Given the description of an element on the screen output the (x, y) to click on. 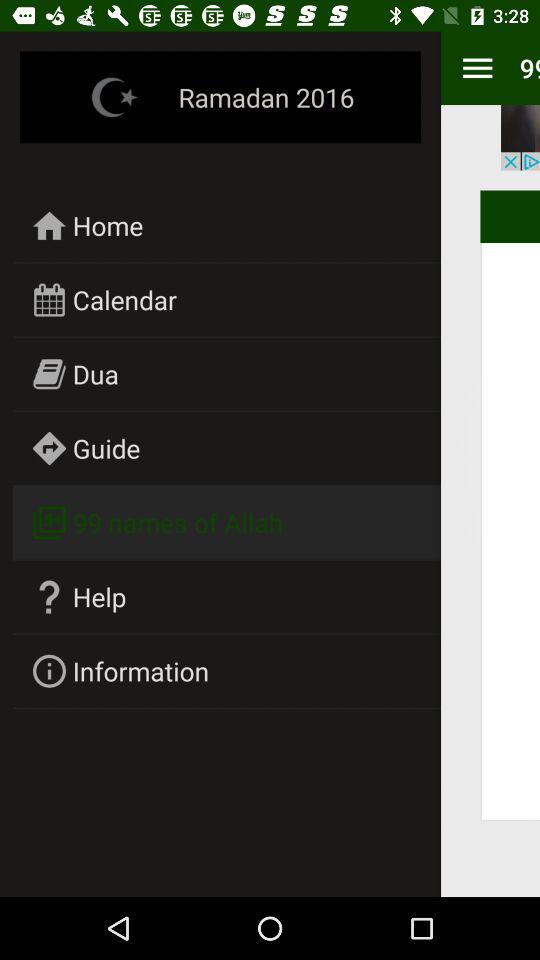
go to menu (477, 68)
